Given the description of an element on the screen output the (x, y) to click on. 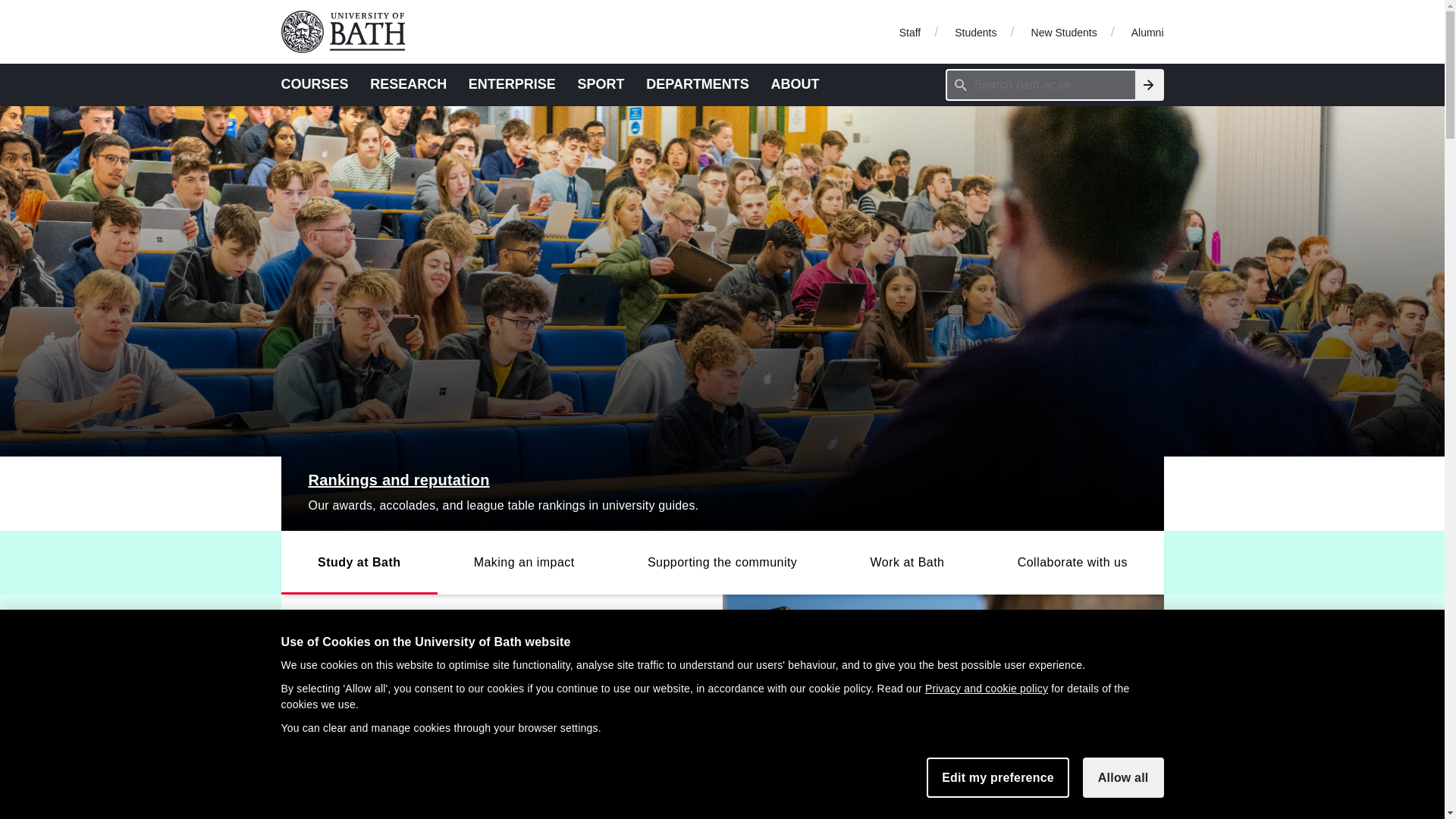
COURSES (314, 83)
Work at Bath (905, 562)
Students (975, 31)
SPORT (601, 83)
ABOUT (795, 83)
University of Bath (348, 31)
Collaborate with us (1071, 562)
DEPARTMENTS (697, 83)
Type search term here (1039, 84)
